Given the description of an element on the screen output the (x, y) to click on. 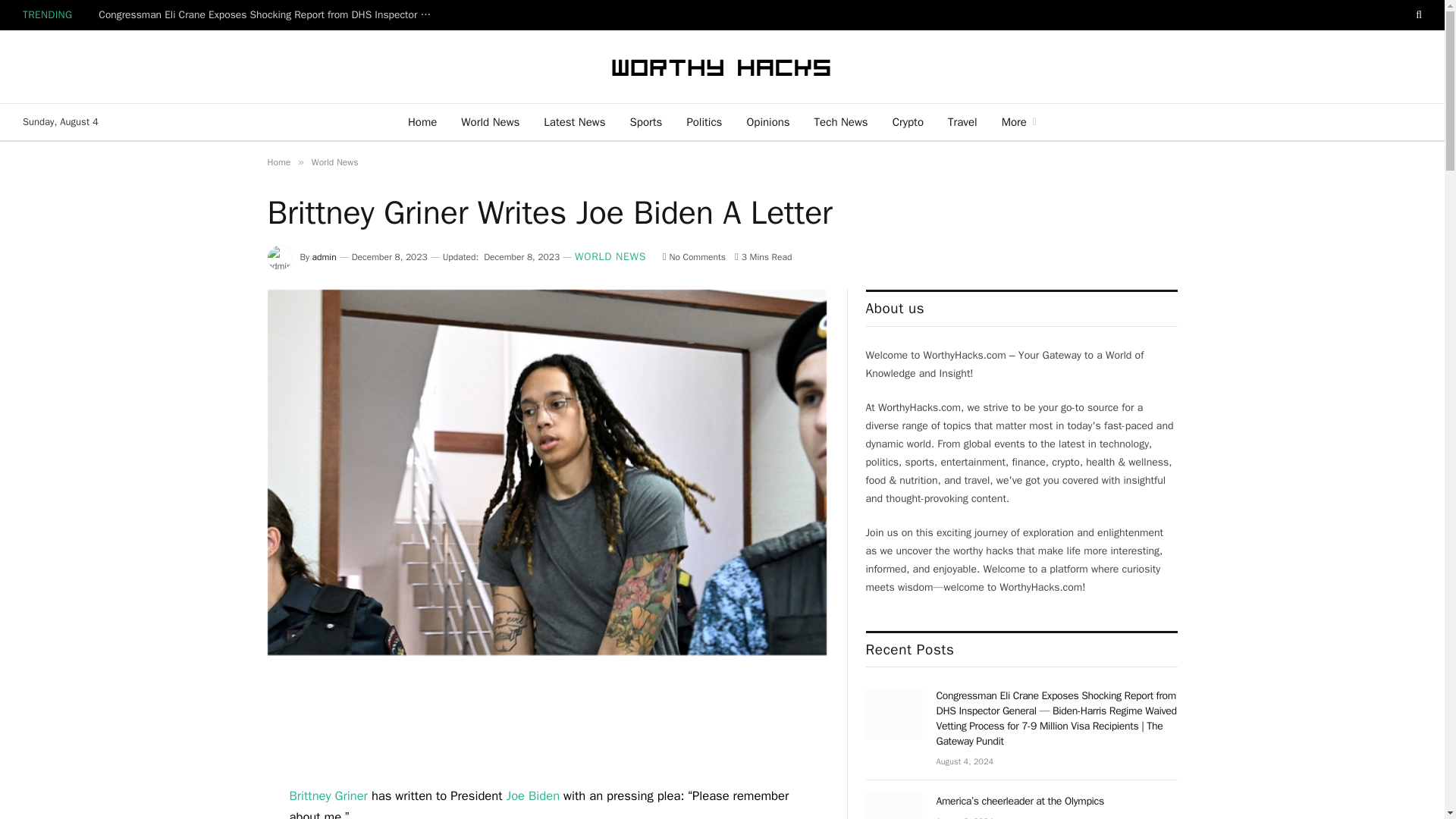
World News (334, 162)
Travel (963, 122)
Opinions (767, 122)
Tech News (841, 122)
Sports (646, 122)
Politics (703, 122)
World News (489, 122)
Latest News (574, 122)
Worthy Hacks (721, 66)
